Given the description of an element on the screen output the (x, y) to click on. 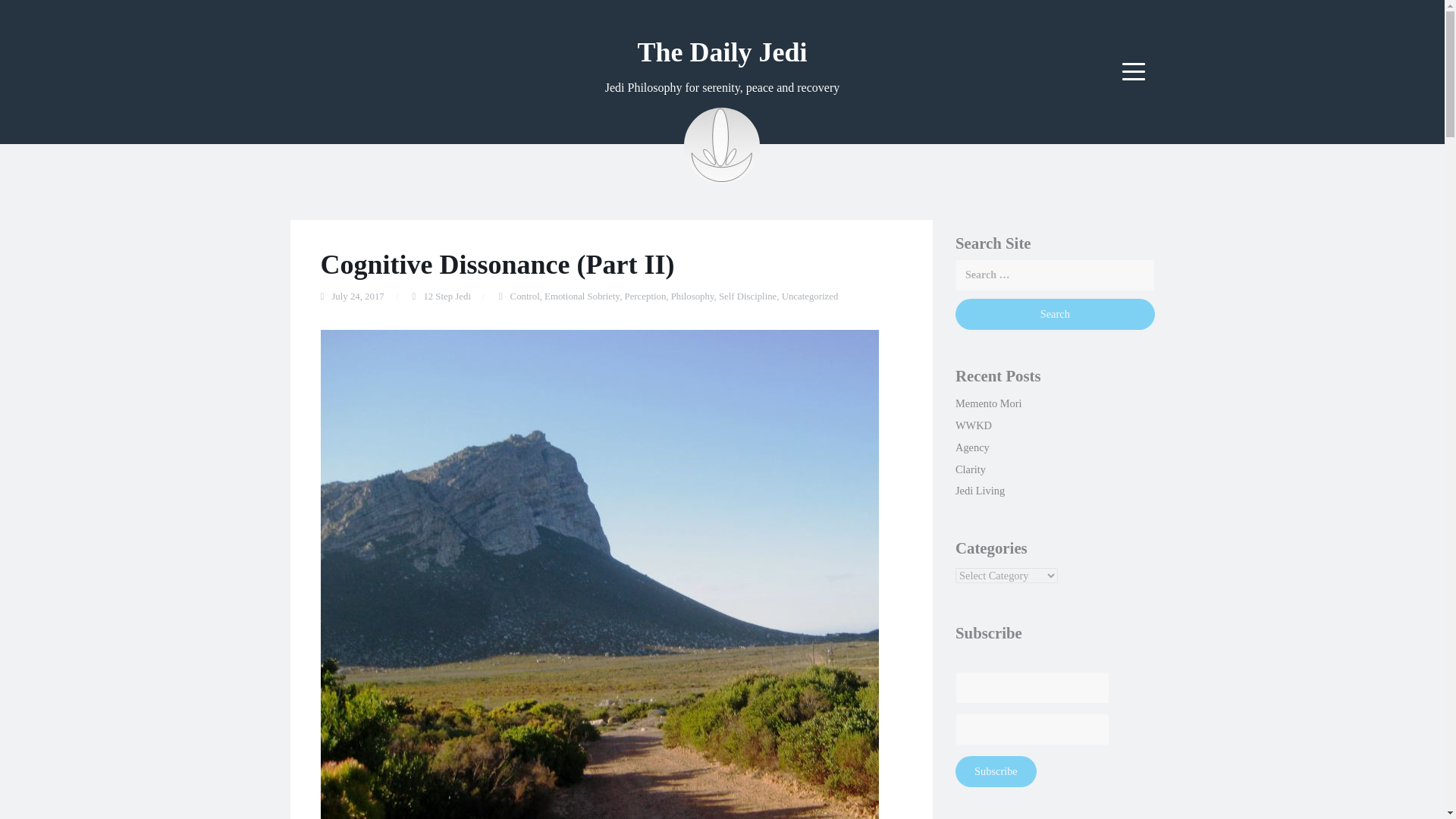
Self Discipline (747, 296)
Control (525, 296)
Subscribe (995, 771)
The Daily Jedi (721, 51)
Uncategorized (809, 296)
Emotional Sobriety (582, 296)
Perception (645, 296)
Philosophy (692, 296)
Search (1054, 314)
July 24, 2017 (357, 296)
